Given the description of an element on the screen output the (x, y) to click on. 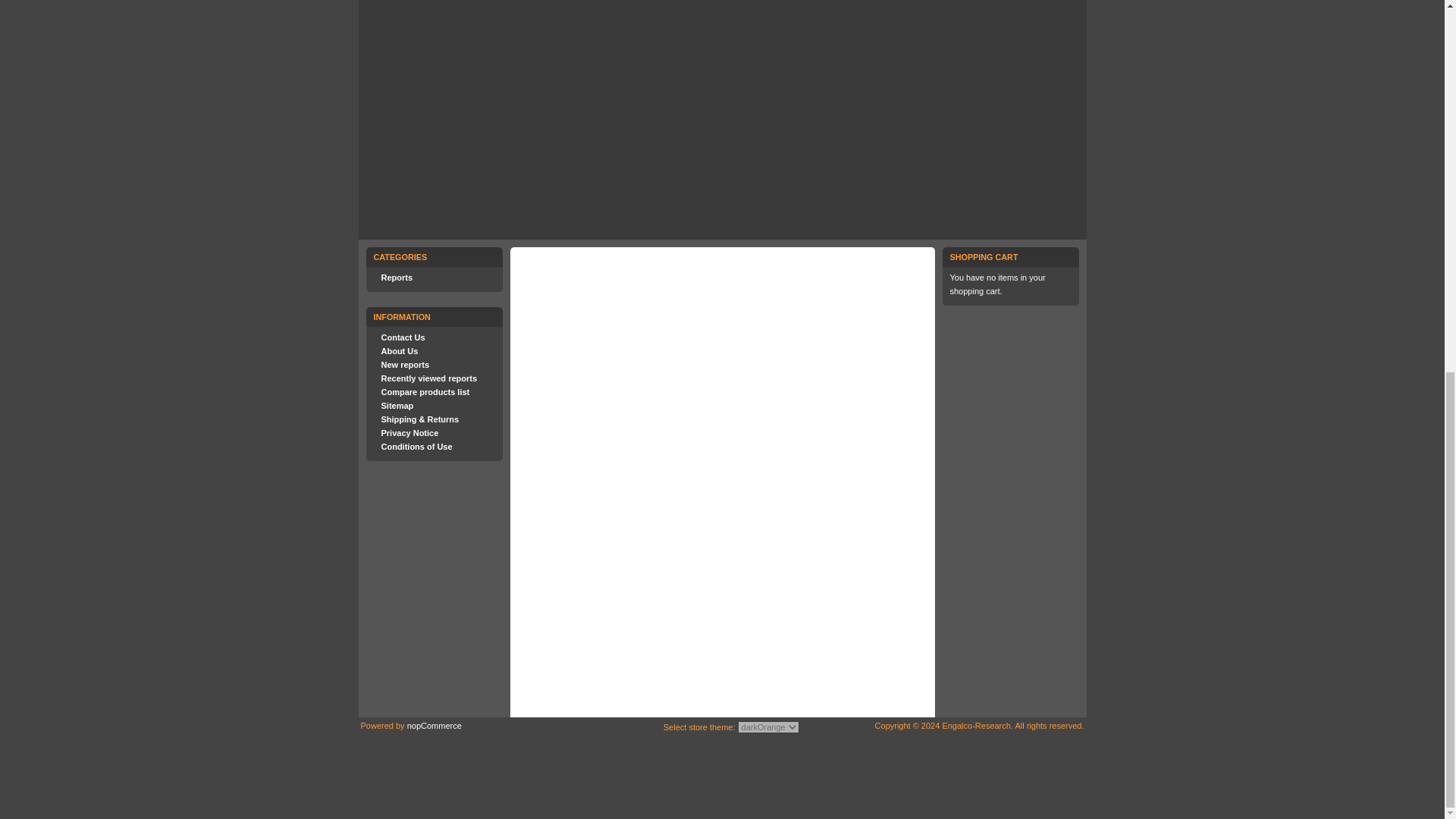
Compare products list (424, 391)
Conditions of Use (415, 446)
Sitemap (396, 405)
nopCommerce (434, 725)
Reports (396, 276)
Contact Us (402, 337)
Privacy Notice (409, 432)
About Us (398, 350)
New reports (404, 364)
Recently viewed reports (428, 378)
